Given the description of an element on the screen output the (x, y) to click on. 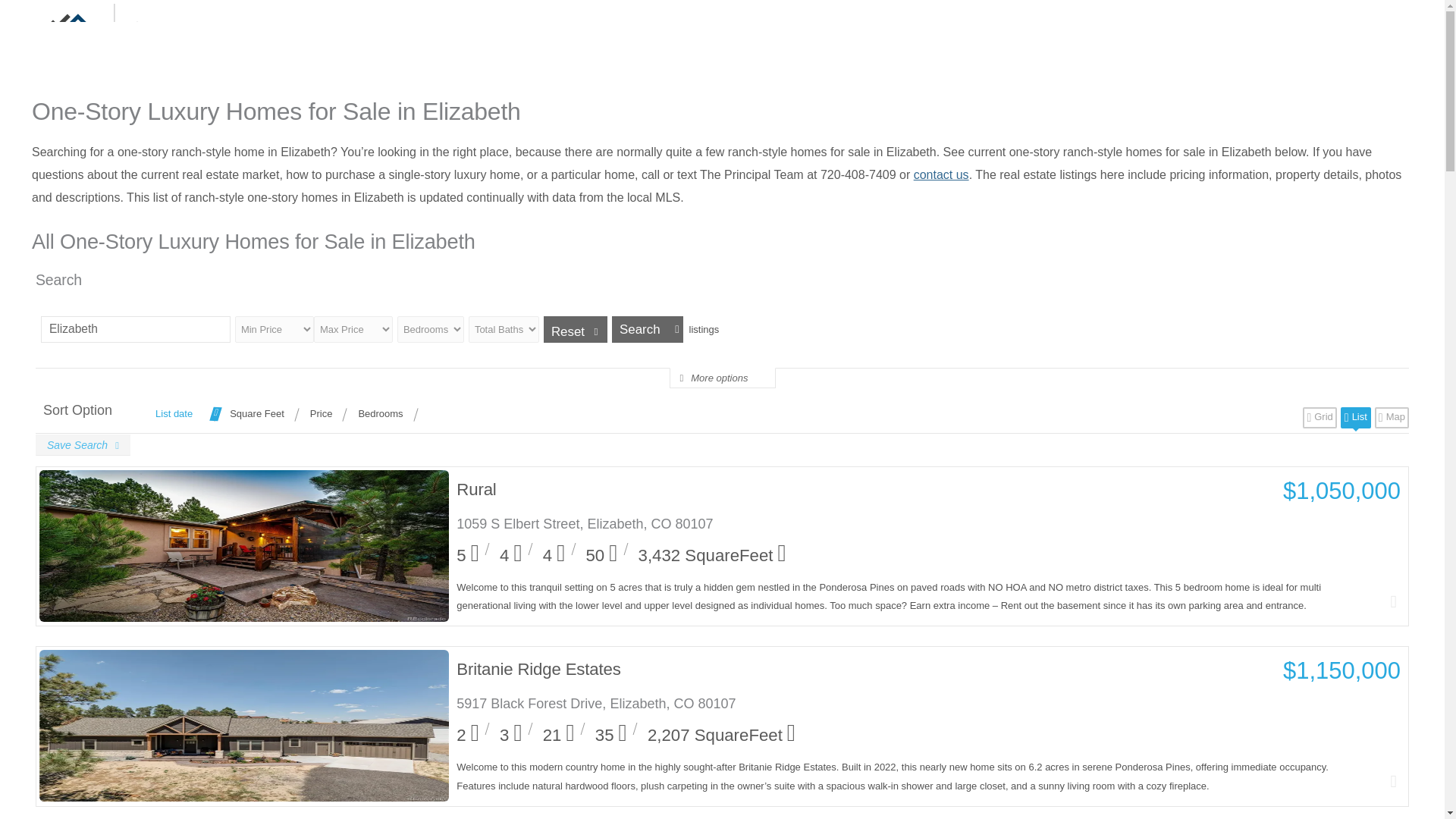
Search (646, 329)
Search (646, 329)
Rural (893, 489)
Elizabeth (135, 329)
Elizabeth (135, 329)
Britanie Ridge Estates (893, 668)
